Given the description of an element on the screen output the (x, y) to click on. 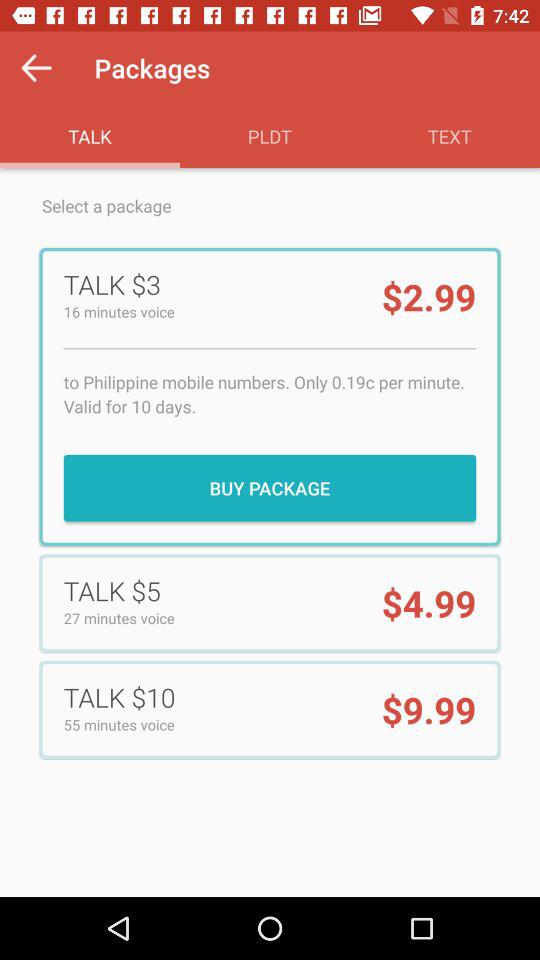
select item below to philippine mobile (269, 487)
